Given the description of an element on the screen output the (x, y) to click on. 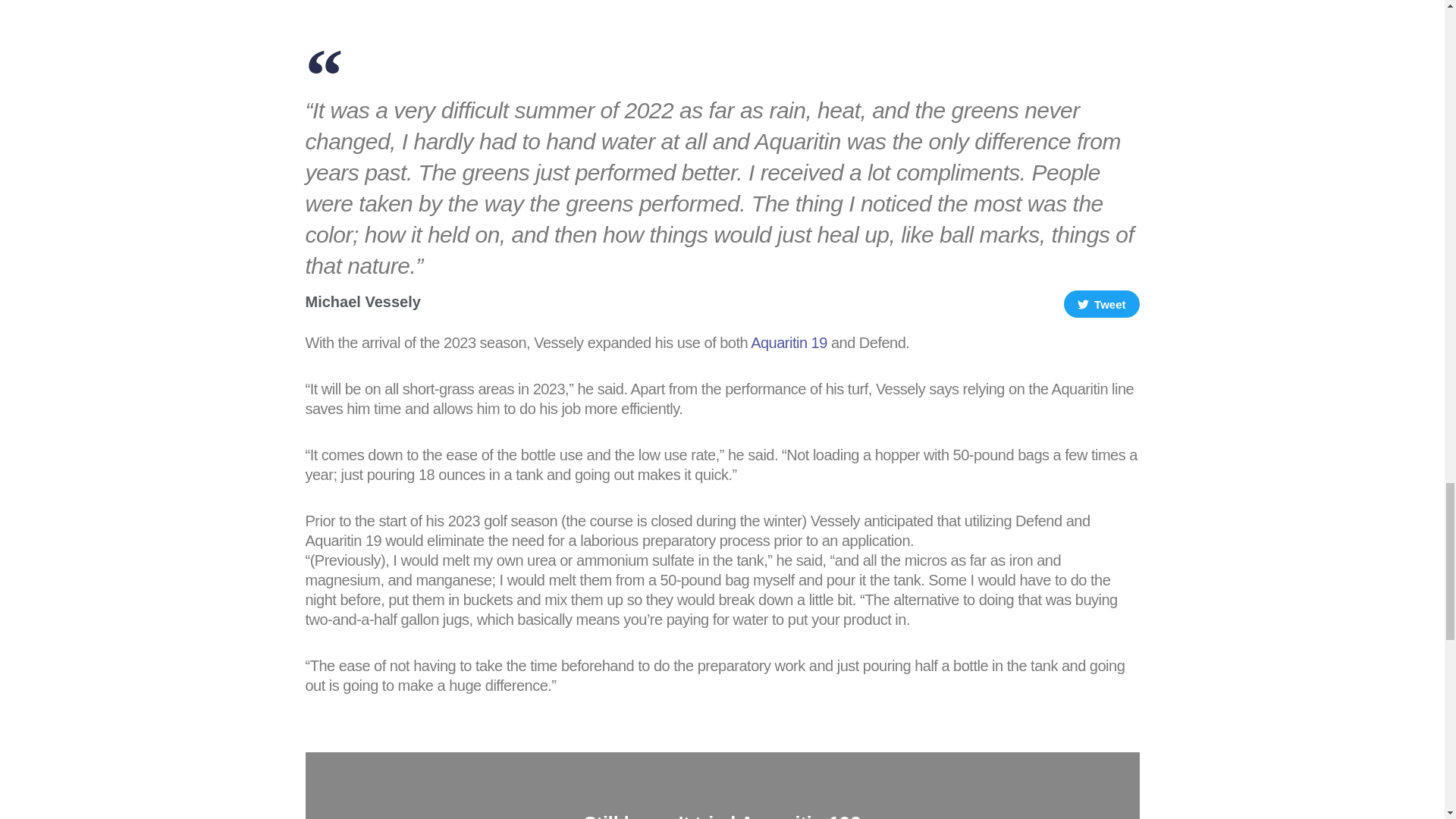
Aquaritin 19 (789, 342)
Tweet (1102, 303)
